Given the description of an element on the screen output the (x, y) to click on. 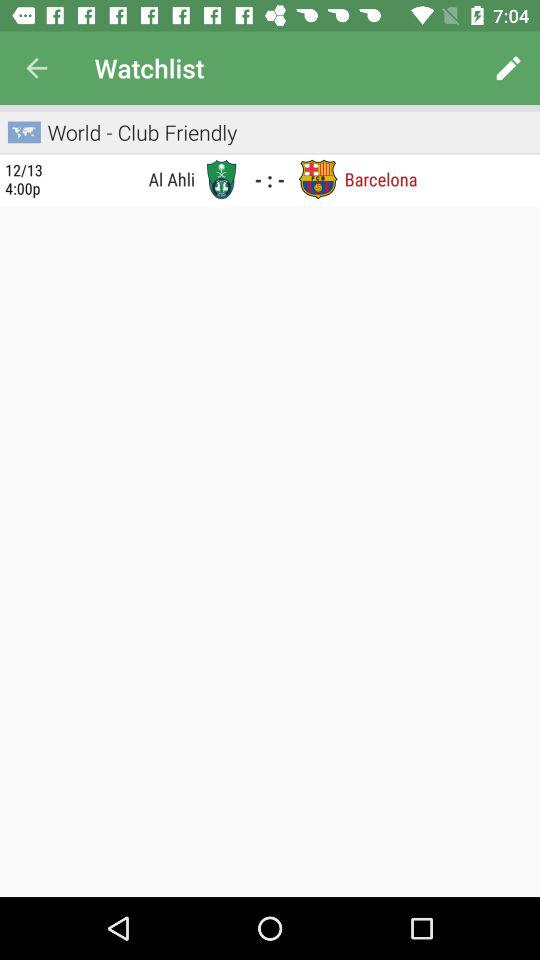
swipe until barcelona item (380, 178)
